Given the description of an element on the screen output the (x, y) to click on. 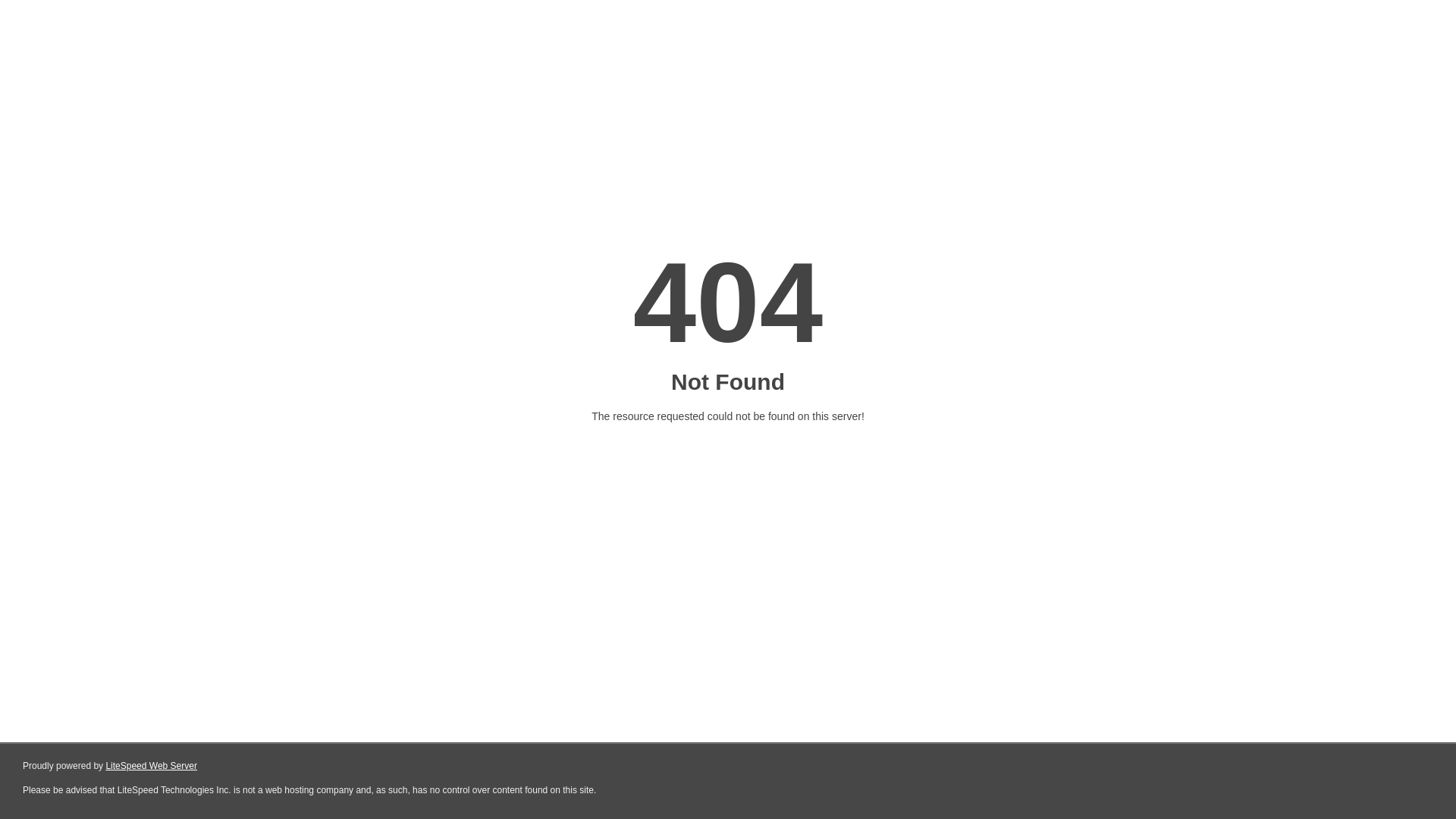
LiteSpeed Web Server Element type: text (151, 765)
